Given the description of an element on the screen output the (x, y) to click on. 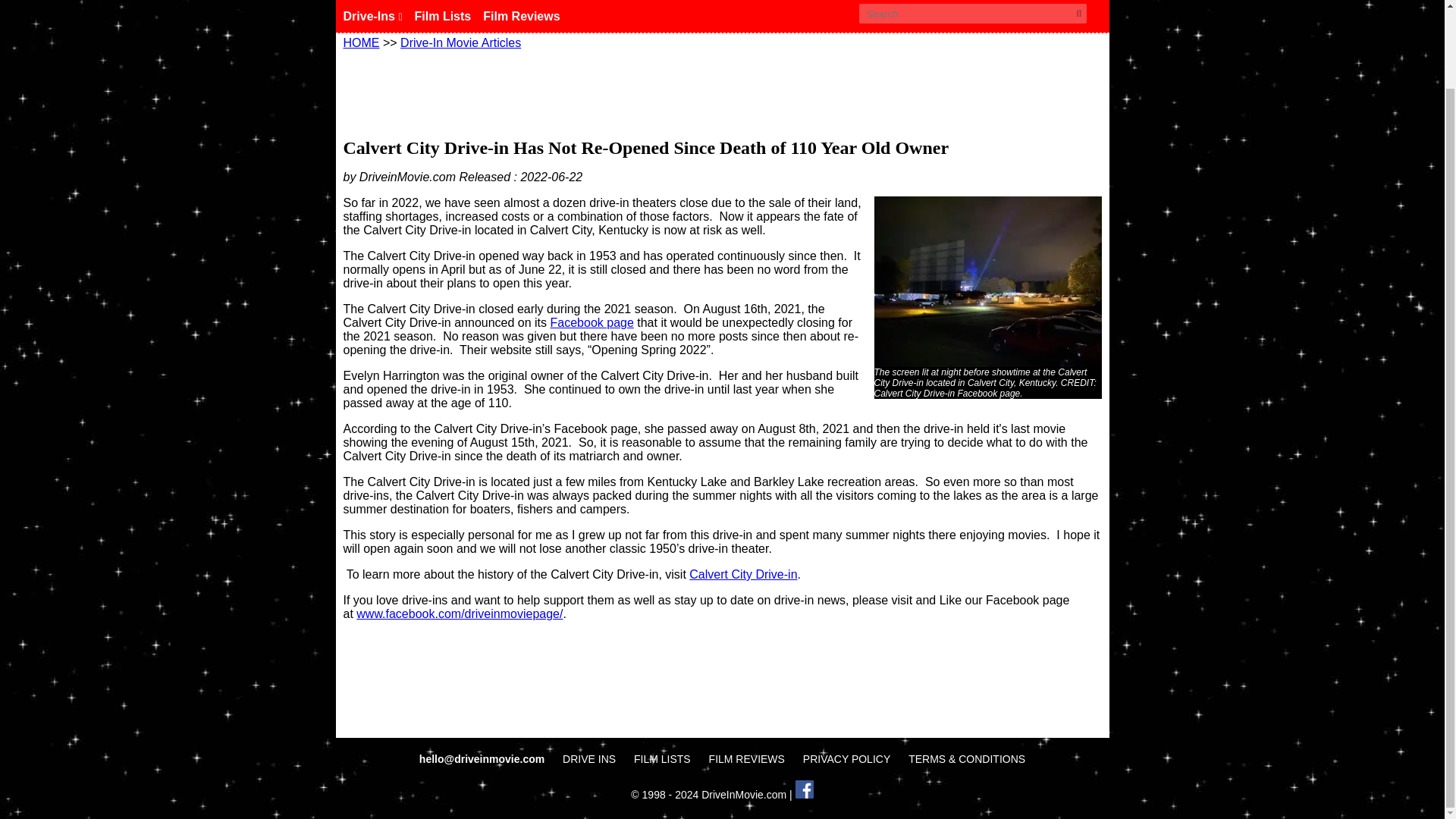
HOME (360, 42)
Advertisement (721, 91)
DRIVE INS (588, 758)
FILM REVIEWS (746, 758)
Calvert City Drive-in (742, 574)
Advertisement (721, 700)
FILM LISTS (661, 758)
Film Lists (448, 17)
Film Reviews (527, 17)
PRIVACY POLICY (846, 758)
Facebook page (591, 322)
Drive-Ins (377, 17)
Drive-In Movie Articles (460, 42)
